Given the description of an element on the screen output the (x, y) to click on. 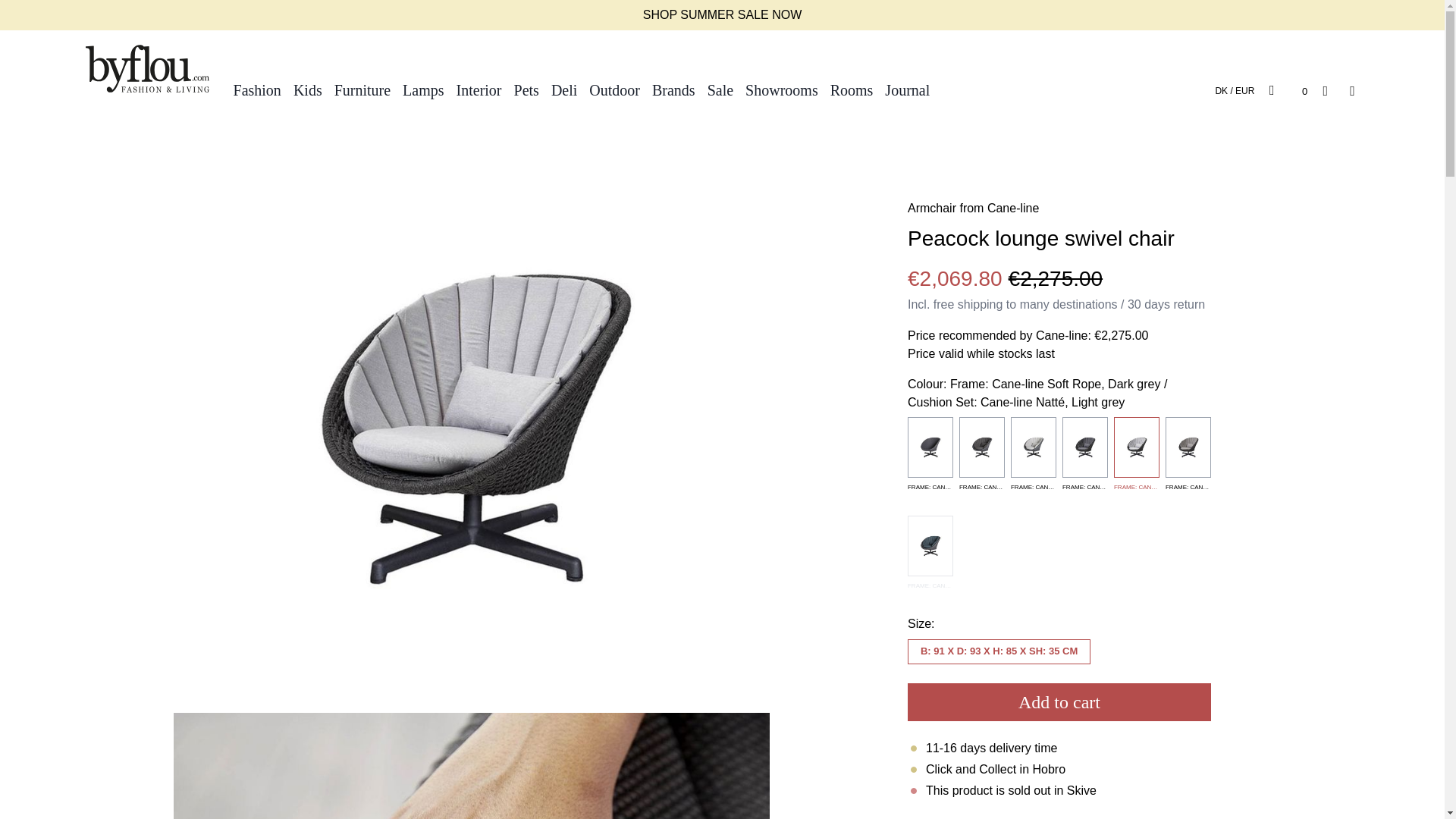
Interior (478, 89)
Outdoor (614, 89)
Showrooms (781, 89)
Pets (526, 89)
Cane-line (1013, 207)
Furniture (362, 89)
Sale (720, 89)
Add to cart (1059, 702)
Cane-line (1013, 207)
Kids (307, 89)
Incl. free shipping to many destinations (1012, 304)
Rooms (851, 89)
Fashion (256, 89)
Brands (673, 89)
Lamps (422, 89)
